Given the description of an element on the screen output the (x, y) to click on. 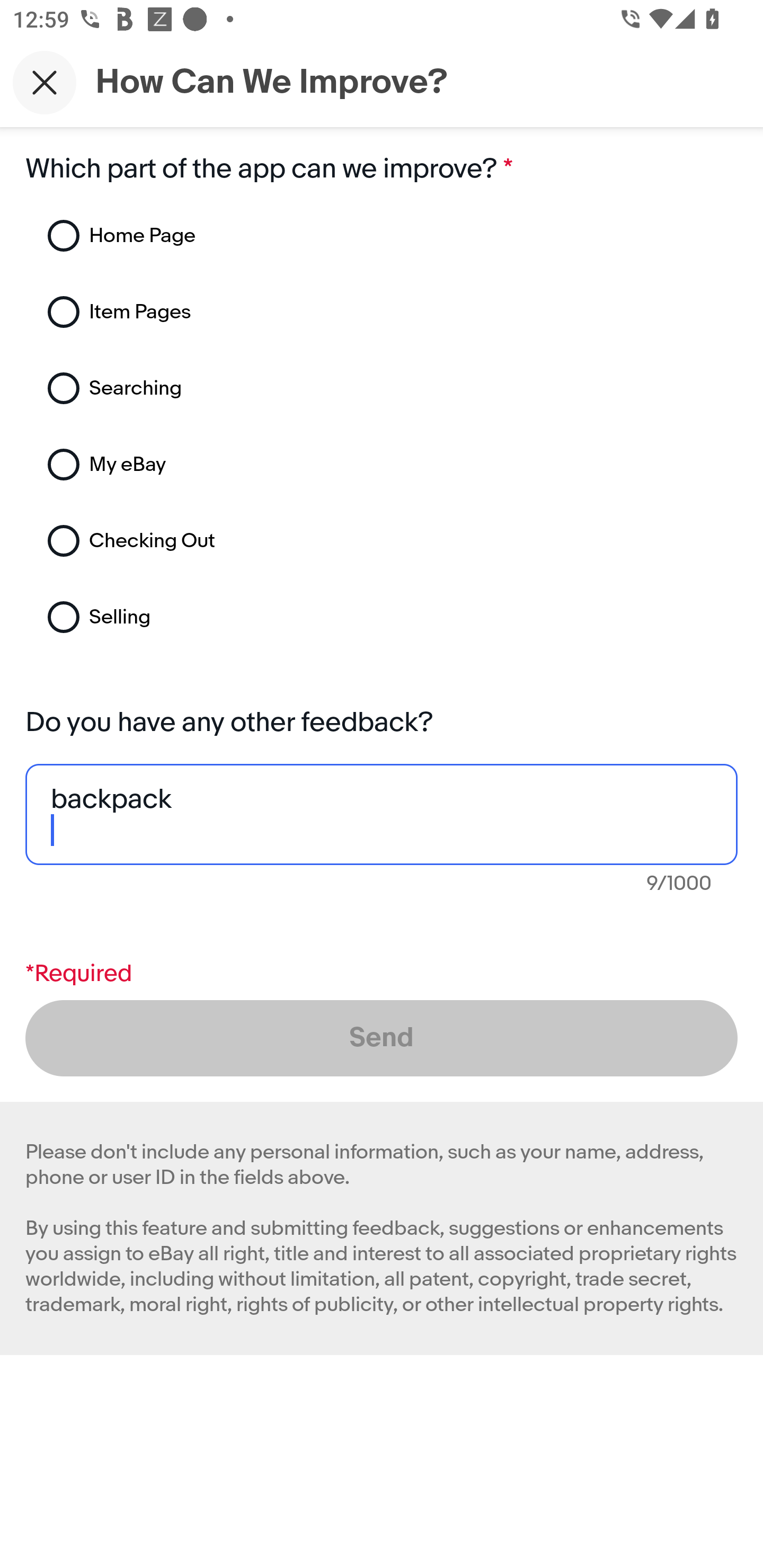
Close (44, 82)
Home Page (269, 235)
Item Pages (269, 311)
Searching (269, 387)
My eBay (269, 464)
Checking Out (269, 540)
Selling (269, 616)
backpack
, 9 of 1000 characters entered (381, 814)
Send (381, 1037)
